Given the description of an element on the screen output the (x, y) to click on. 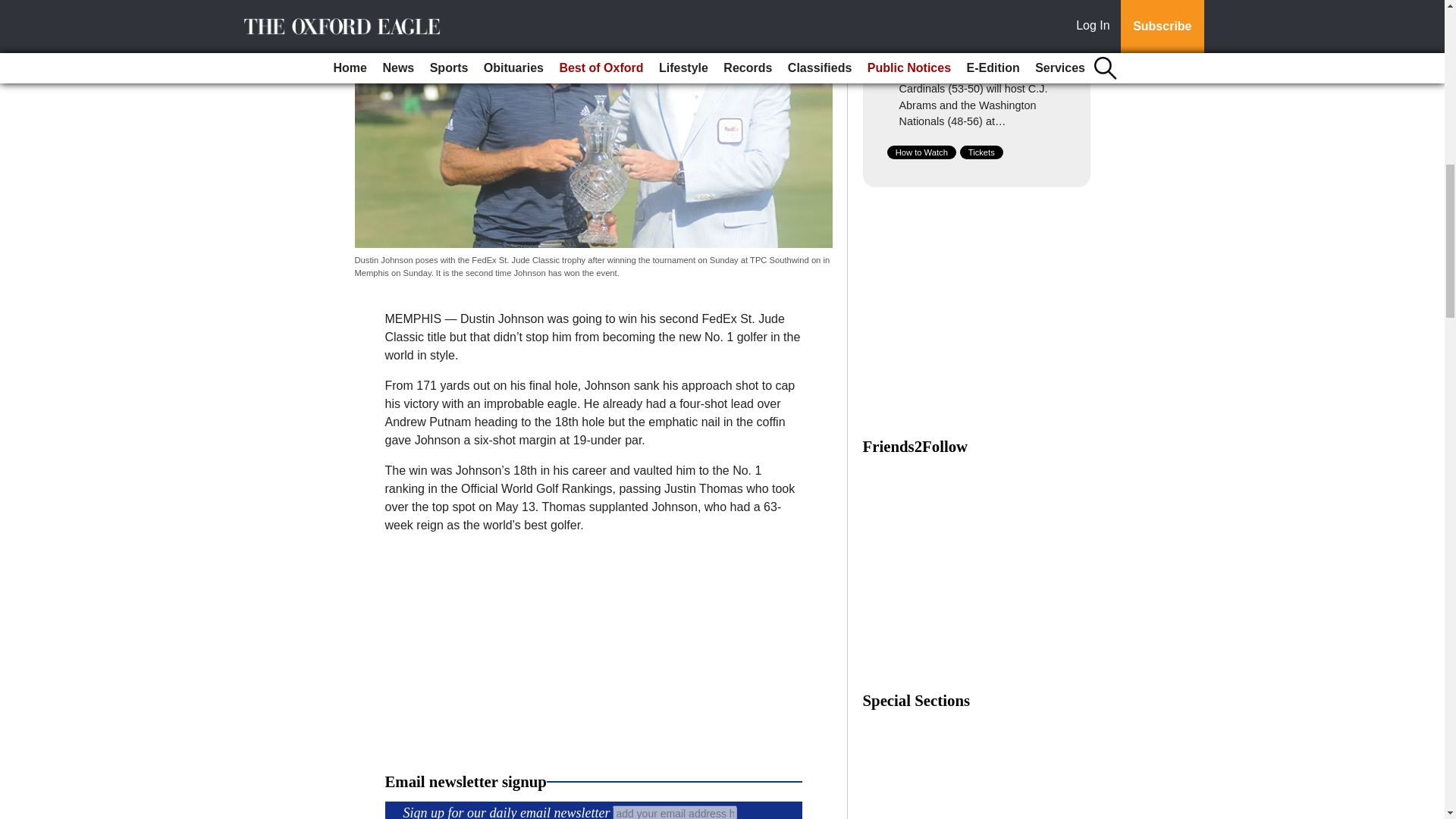
How to Watch (921, 151)
Cardinals vs. Nationals: Betting Preview for July 27 (981, 44)
